Given the description of an element on the screen output the (x, y) to click on. 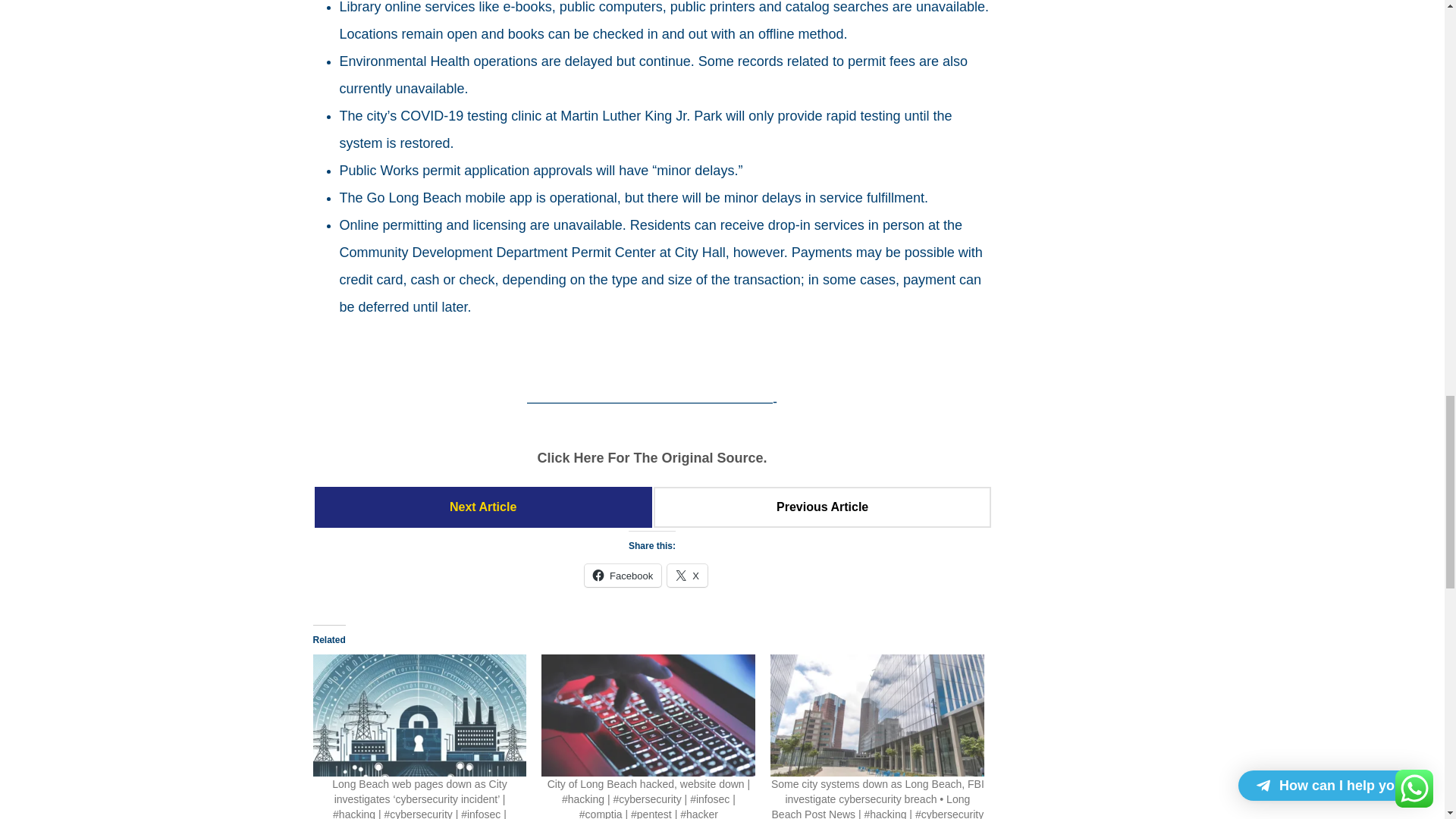
Click to share on Facebook (623, 575)
Click to share on X (686, 575)
